Given the description of an element on the screen output the (x, y) to click on. 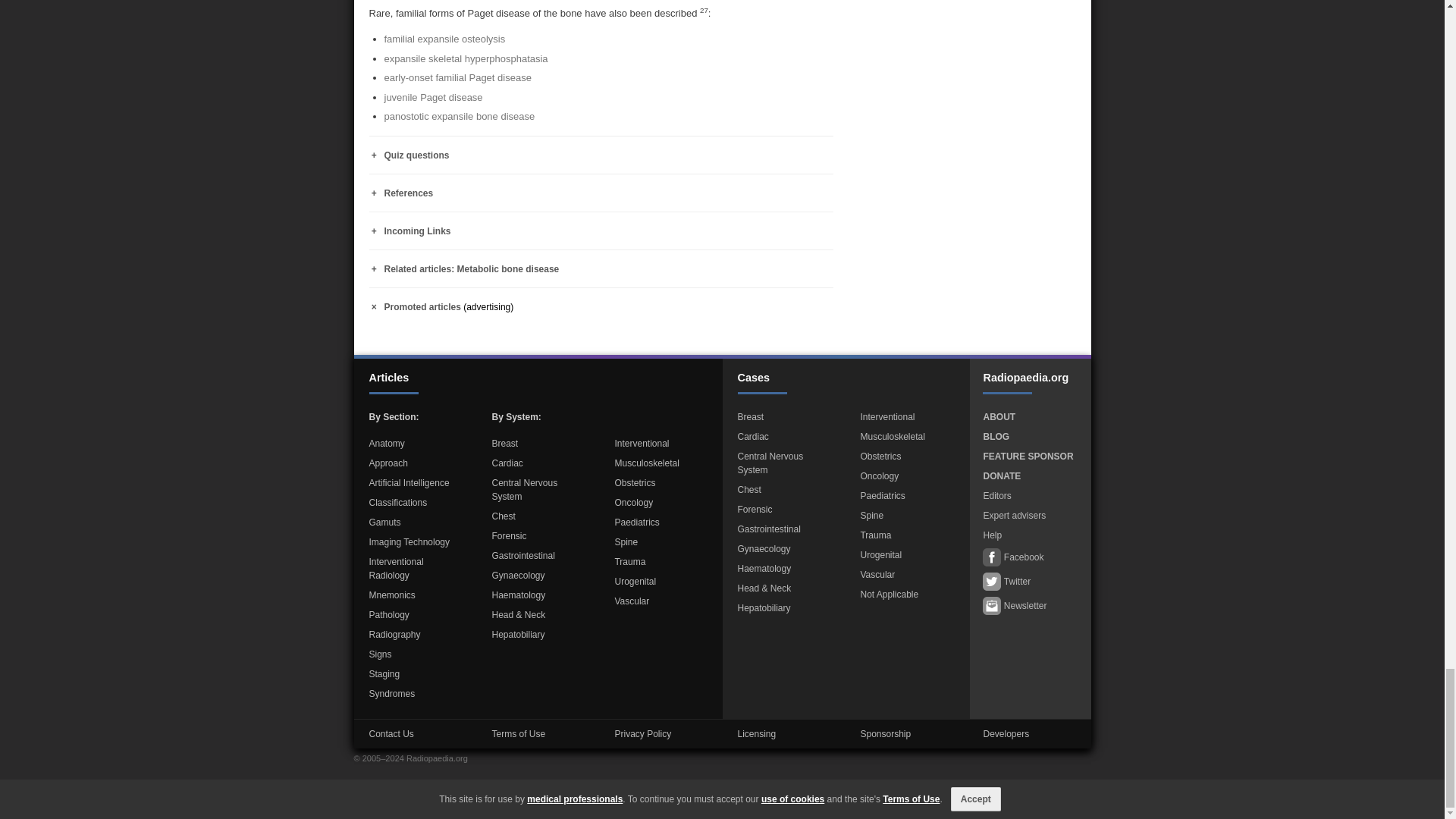
expansile skeletal hyperphosphatasia (465, 58)
Early onset familial Paget disease (457, 77)
juvenile Paget disease (432, 97)
panostotic expansile bone disease (459, 116)
familial expansile osteolysis (444, 39)
